Given the description of an element on the screen output the (x, y) to click on. 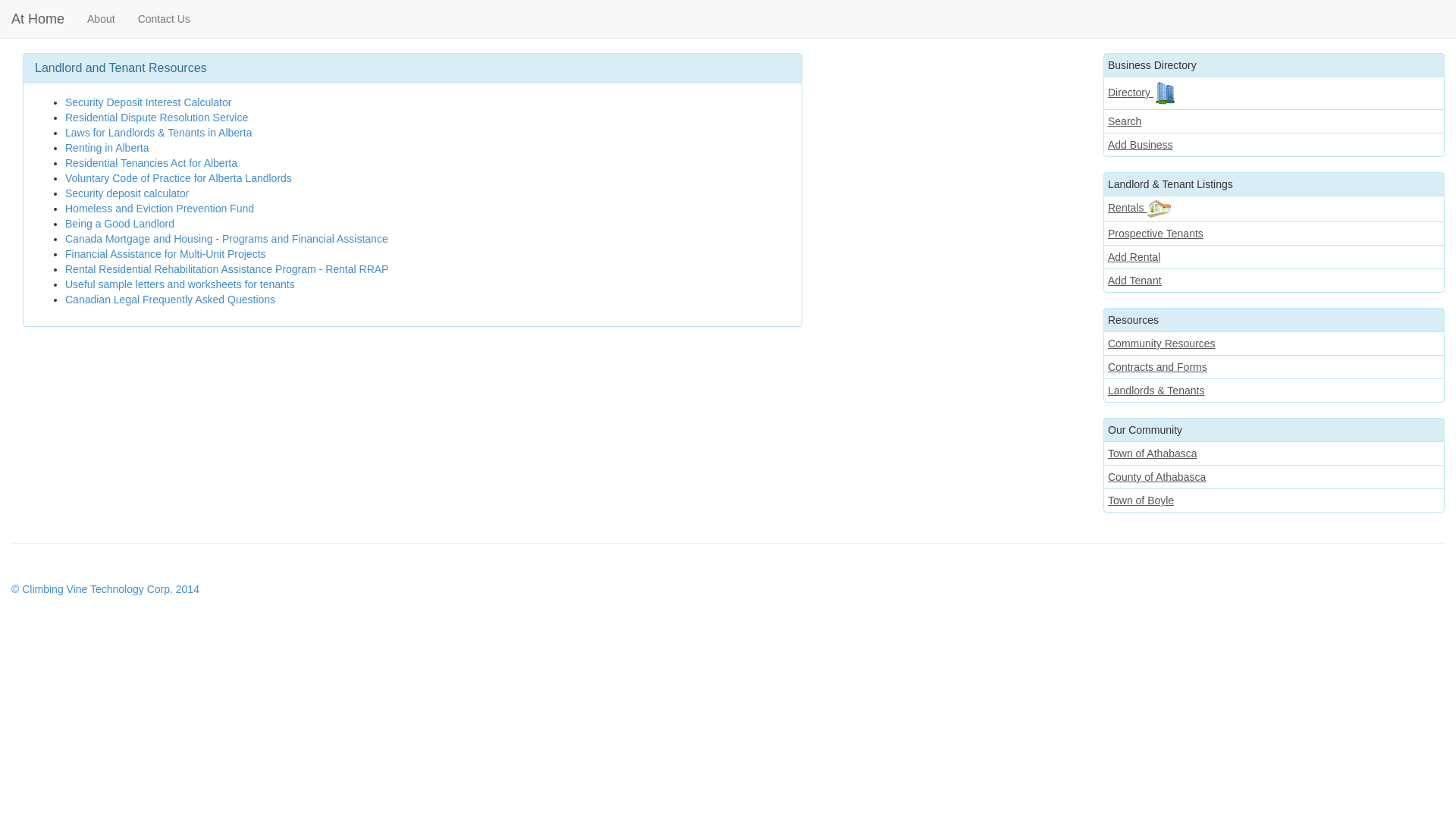
Rentals Element type: text (1273, 208)
Canadian Legal Frequently Asked Questions Element type: text (170, 299)
Homeless and Eviction Prevention Fund Element type: text (159, 208)
Residential Tenancies Act for Alberta Element type: text (151, 162)
Add Business Element type: text (1273, 144)
Search Element type: text (1273, 121)
Prospective Tenants Element type: text (1273, 233)
Contact Us Element type: text (163, 18)
Add Rental Element type: text (1273, 256)
Useful sample letters and worksheets for tenants Element type: text (179, 284)
Directory Element type: text (1273, 92)
Renting in Alberta Element type: text (107, 147)
Voluntary Code of Practice for Alberta Landlords Element type: text (178, 178)
Financial Assistance for Multi-Unit Projects Element type: text (165, 253)
Security Deposit Interest Calculator Element type: text (148, 102)
Laws for Landlords & Tenants in Alberta Element type: text (158, 132)
County of Athabasca Element type: text (1273, 476)
Landlords & Tenants Element type: text (1273, 390)
Town of Athabasca Element type: text (1273, 453)
Community Resources Element type: text (1273, 343)
Add Tenant Element type: text (1273, 280)
Security deposit calculator Element type: text (126, 193)
Being a Good Landlord Element type: text (119, 223)
At Home Element type: text (37, 18)
About Element type: text (100, 18)
Town of Boyle Element type: text (1273, 500)
Contracts and Forms Element type: text (1273, 366)
Residential Dispute Resolution Service Element type: text (156, 117)
